Given the description of an element on the screen output the (x, y) to click on. 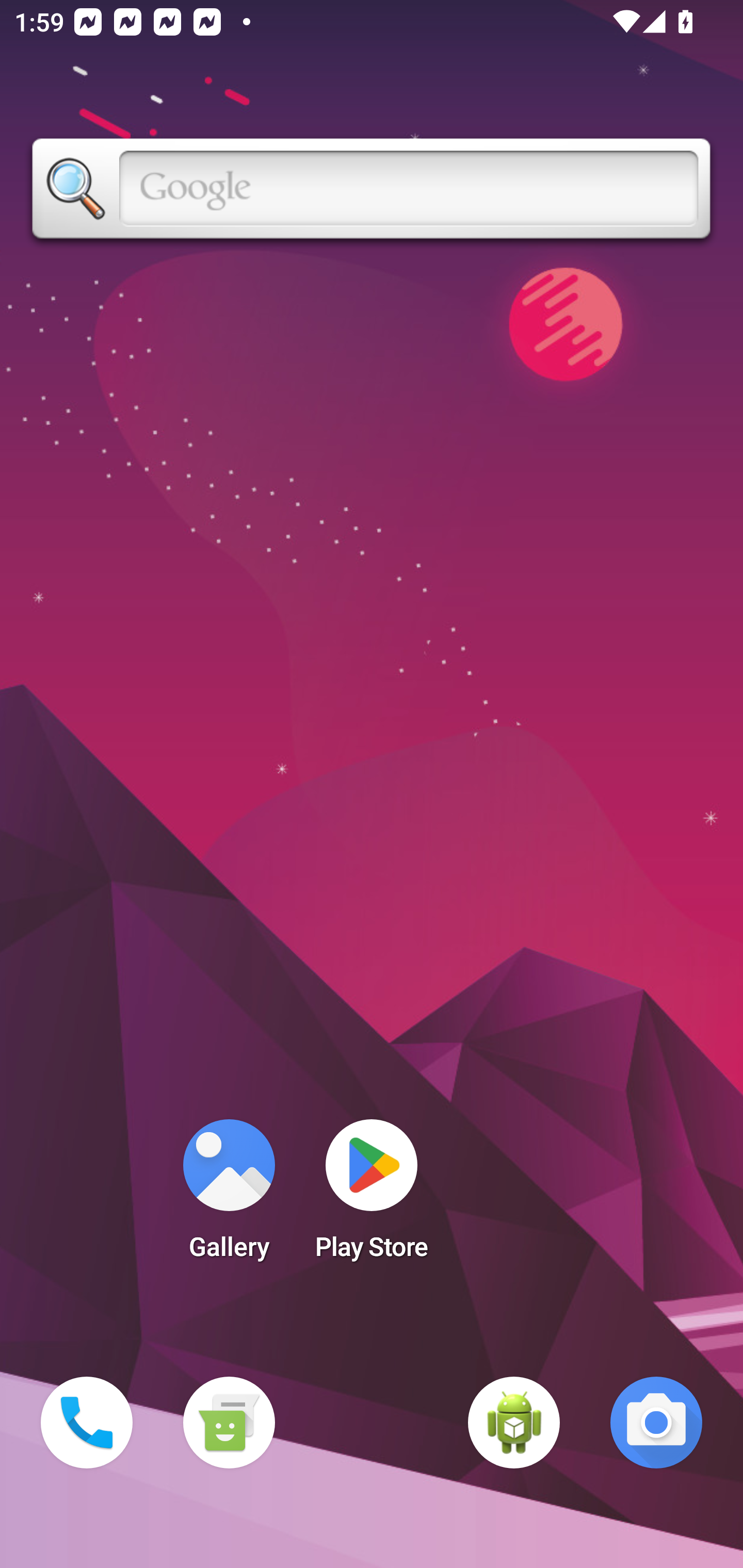
Gallery (228, 1195)
Play Store (371, 1195)
Phone (86, 1422)
Messaging (228, 1422)
WebView Browser Tester (513, 1422)
Camera (656, 1422)
